Given the description of an element on the screen output the (x, y) to click on. 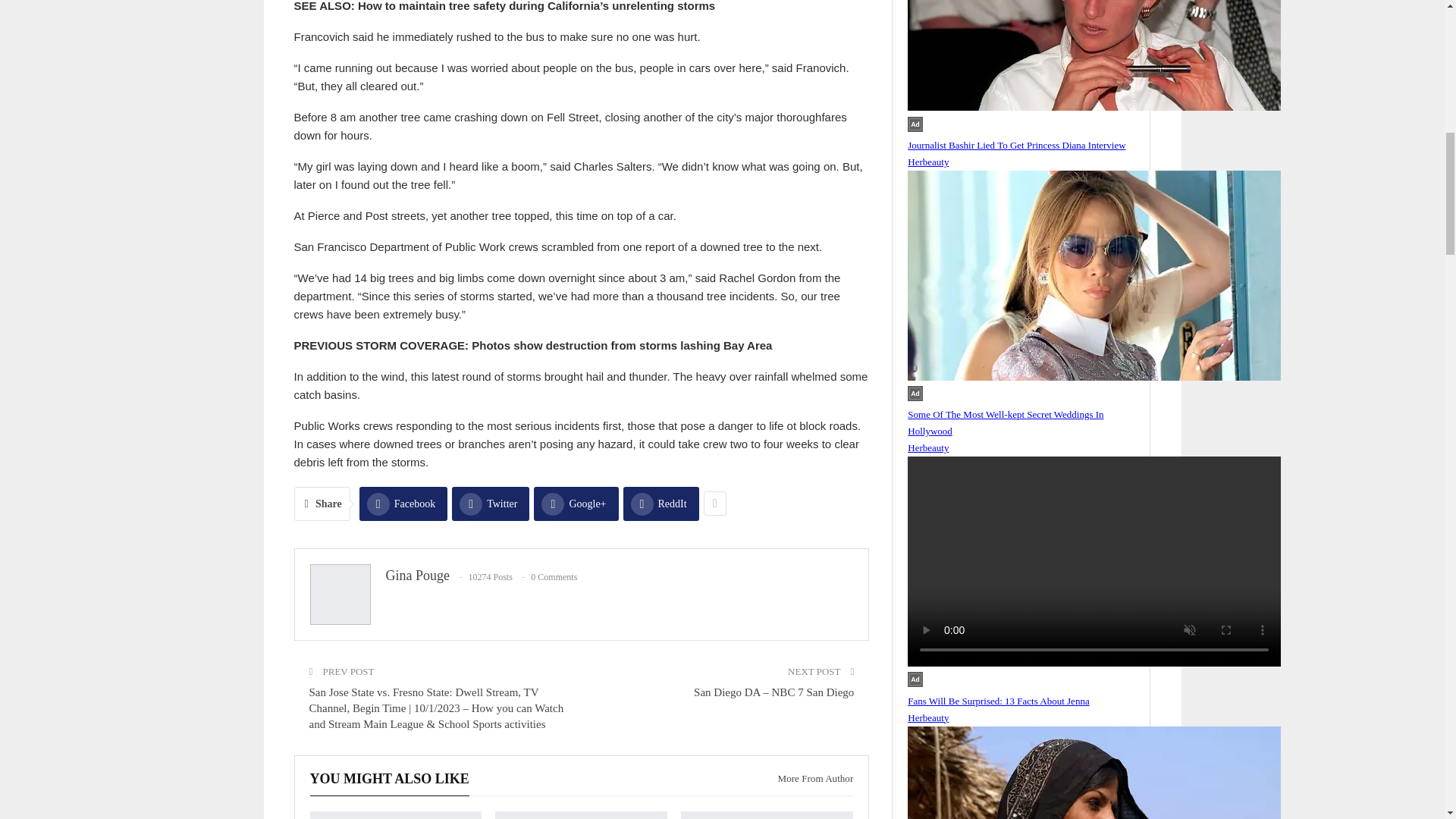
More From Author (809, 778)
Twitter (490, 503)
Gina Pouge (417, 575)
ReddIt (660, 503)
YOU MIGHT ALSO LIKE (388, 779)
Facebook (402, 503)
New Ikea mall in downtown San Francisco opening quickly (394, 815)
